Given the description of an element on the screen output the (x, y) to click on. 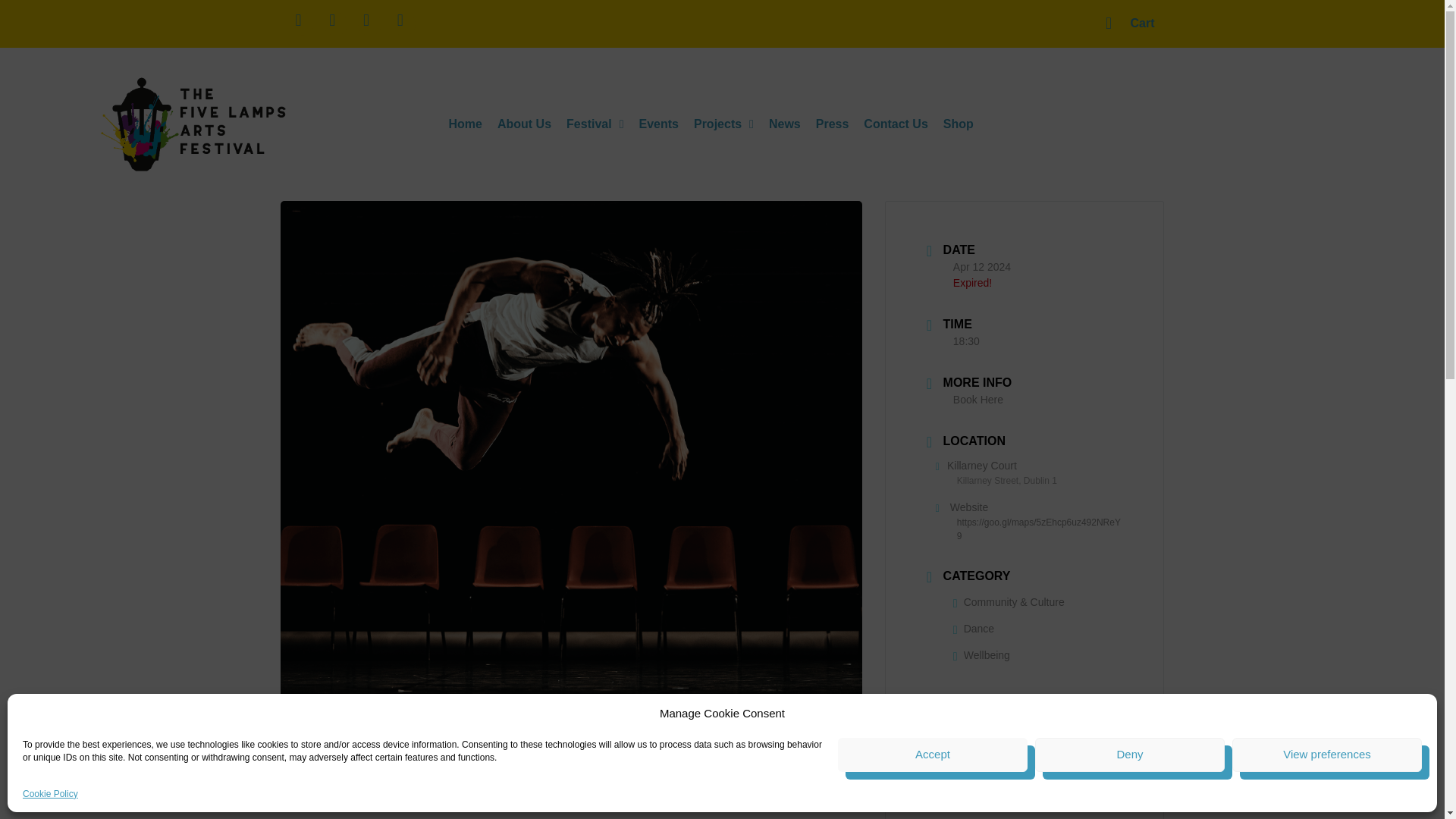
Shop (958, 124)
Press (832, 124)
About Us (524, 124)
News (784, 124)
Contact Us (895, 124)
Festival (594, 124)
Projects (723, 124)
Events (657, 124)
Cart (1129, 23)
Home (465, 124)
